Given the description of an element on the screen output the (x, y) to click on. 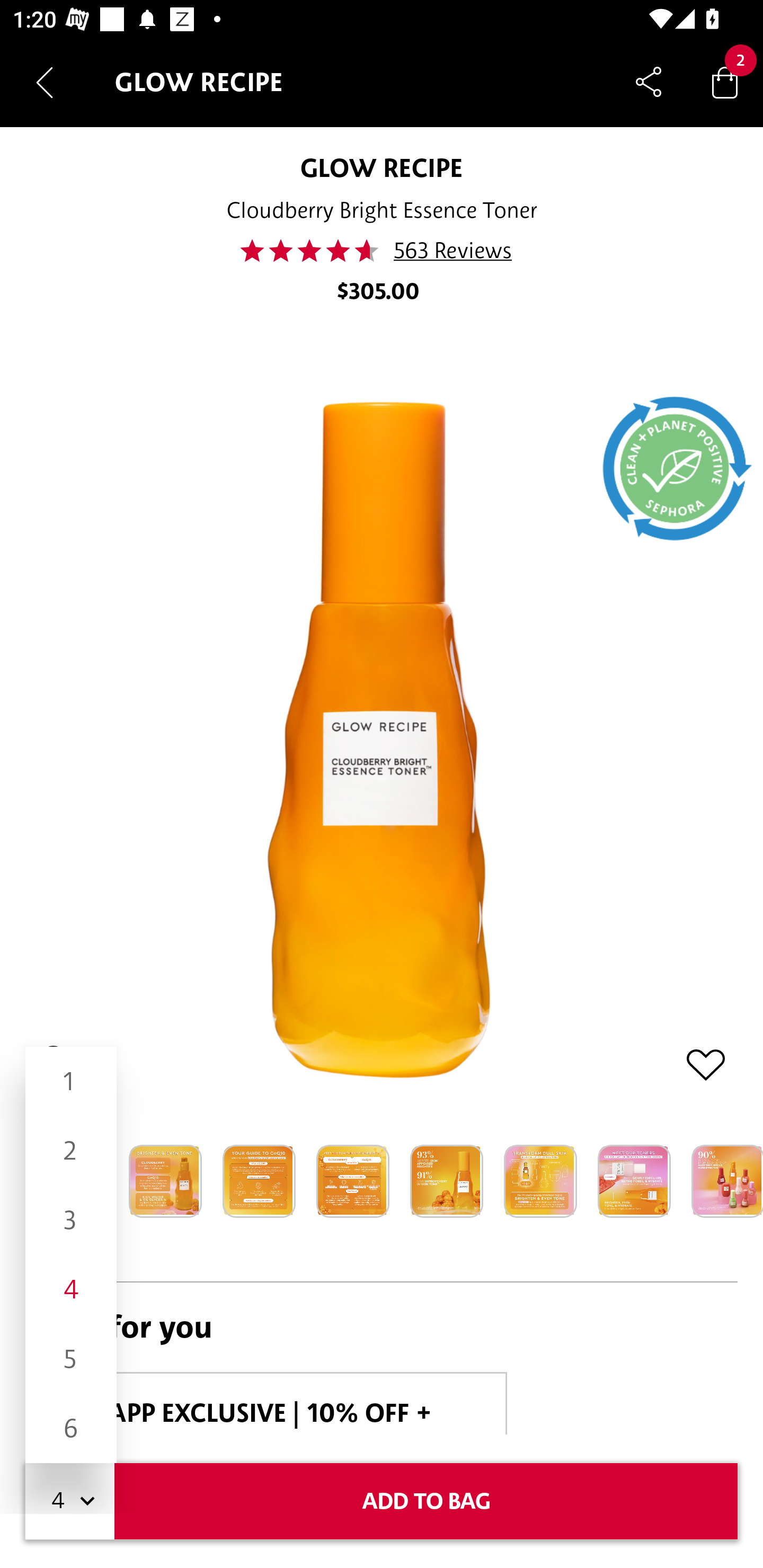
1 (70, 1081)
2 (70, 1150)
3 (70, 1219)
4 (70, 1289)
5 (70, 1358)
6 (70, 1427)
